Given the description of an element on the screen output the (x, y) to click on. 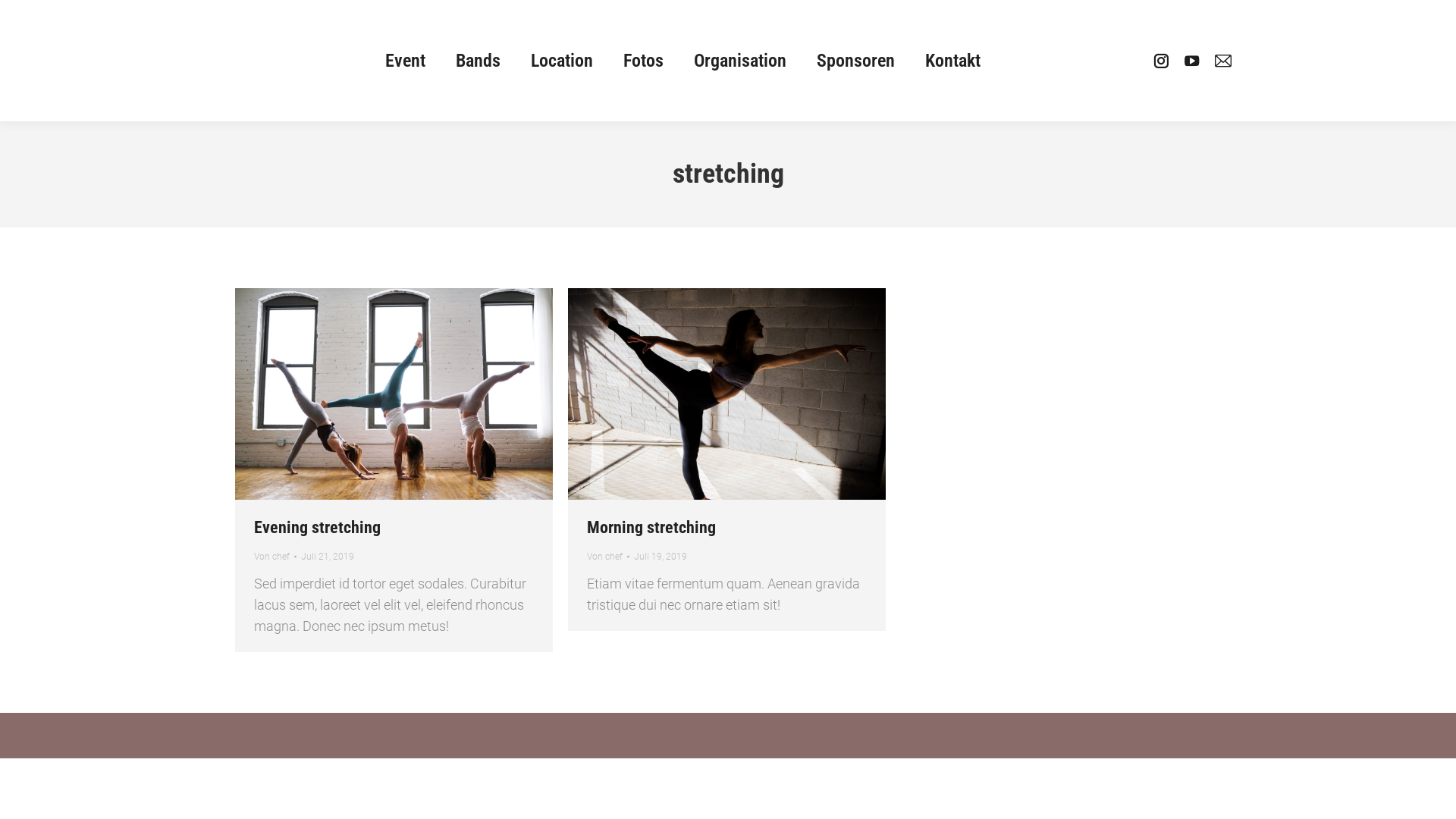
d000 Element type: hover (393, 393)
Von chef Element type: text (607, 556)
E-Mail page opens in new window Element type: text (1222, 60)
Fotos Element type: text (643, 60)
Juli 19, 2019 Element type: text (660, 556)
Kontakt Element type: text (952, 60)
Morning stretching Element type: text (650, 526)
Sponsoren Element type: text (855, 60)
Location Element type: text (561, 60)
Bands Element type: text (477, 60)
Event Element type: text (405, 60)
d0050 Element type: hover (726, 393)
Organisation Element type: text (739, 60)
YouTube page opens in new window Element type: text (1191, 60)
Evening stretching Element type: text (317, 526)
Von chef Element type: text (275, 556)
Instagram page opens in new window Element type: text (1160, 60)
Juli 21, 2019 Element type: text (327, 556)
